Given the description of an element on the screen output the (x, y) to click on. 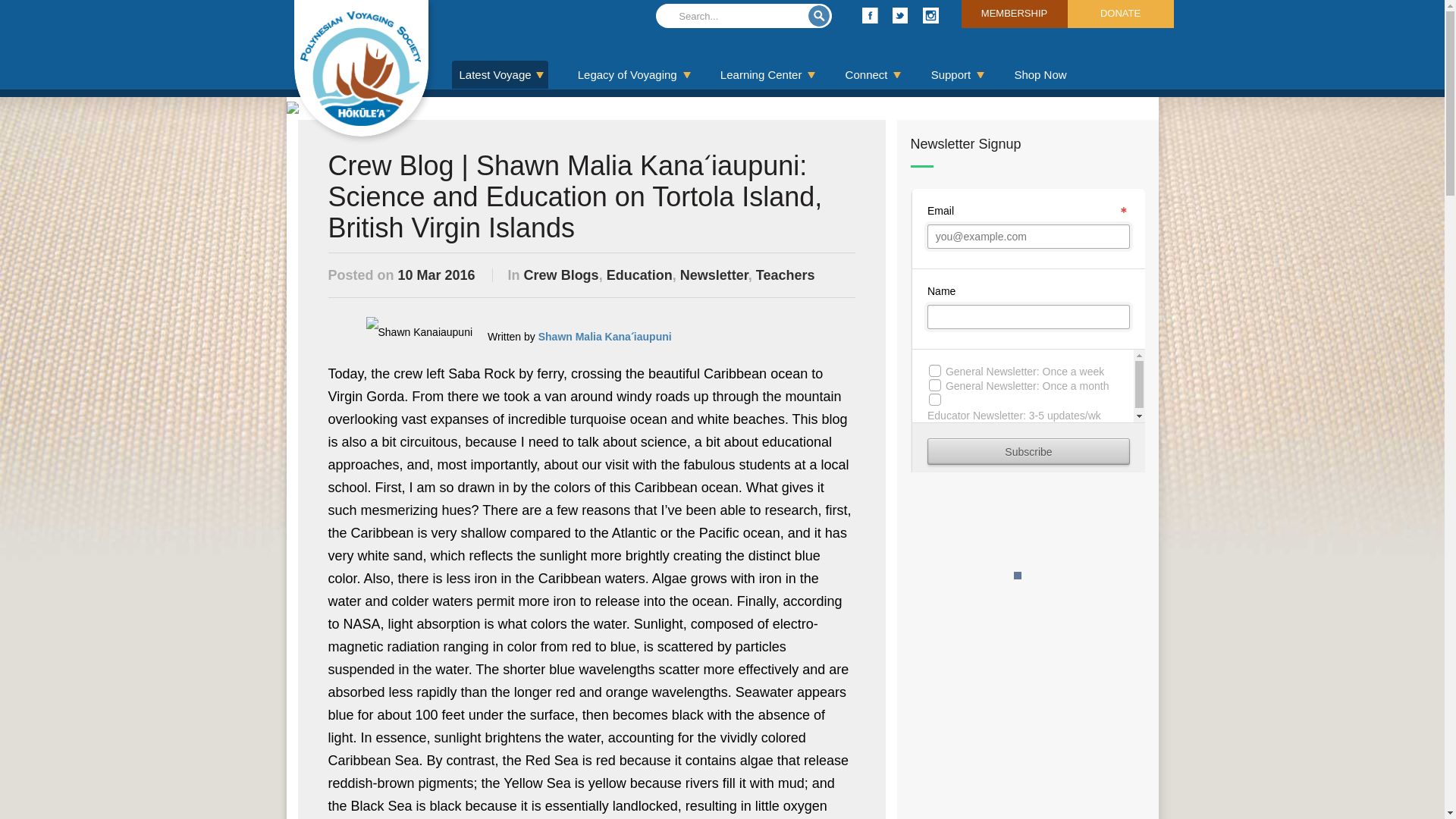
Connect (873, 74)
DONATE (1120, 13)
Hokulea Facebook (869, 15)
Legacy of Voyaging (634, 74)
Instagram (929, 15)
Submit (818, 15)
Shop Now (1039, 74)
Crew Blogs (561, 274)
Latest Voyage (499, 74)
Facebook (869, 15)
Polynesian Voyaging Society (361, 68)
MEMBERSHIP (1013, 13)
Twitter (900, 15)
Support (958, 74)
HokuleaWWV Instagram (929, 15)
